Given the description of an element on the screen output the (x, y) to click on. 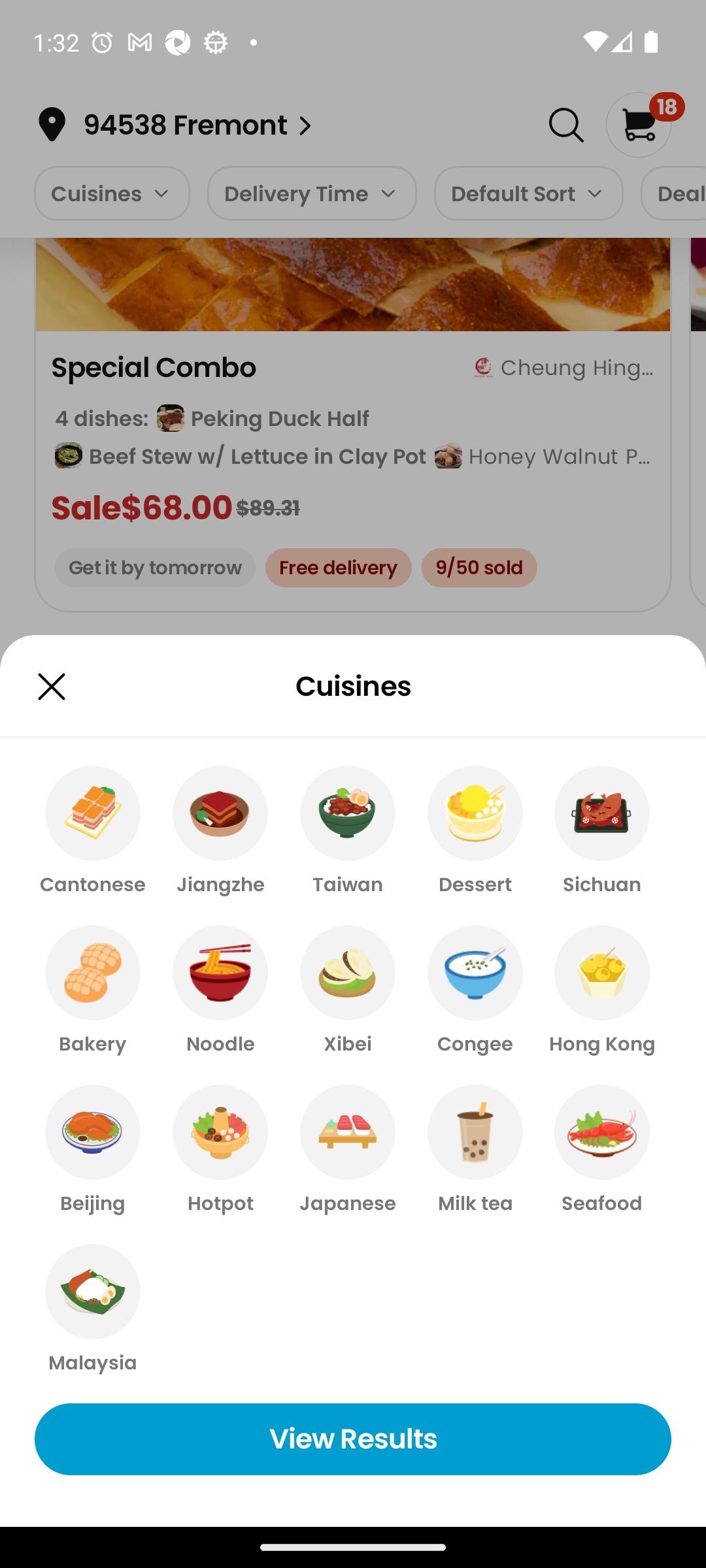
Image (51, 686)
Image Cantonese (92, 830)
Image Jiangzhe (220, 830)
Image Taiwan (347, 830)
Image Dessert (475, 830)
Image Sichuan (601, 830)
Image Bakery (92, 990)
Image Noodle (220, 990)
Image Xibei (347, 990)
Image Congee (475, 990)
Image Hong Kong (601, 990)
Image Beijing (92, 1150)
Image Hotpot (220, 1150)
Image Japanese (347, 1150)
Image Milk tea (475, 1150)
Image Seafood (601, 1150)
Image Malaysia (92, 1309)
View Results (352, 1439)
